Given the description of an element on the screen output the (x, y) to click on. 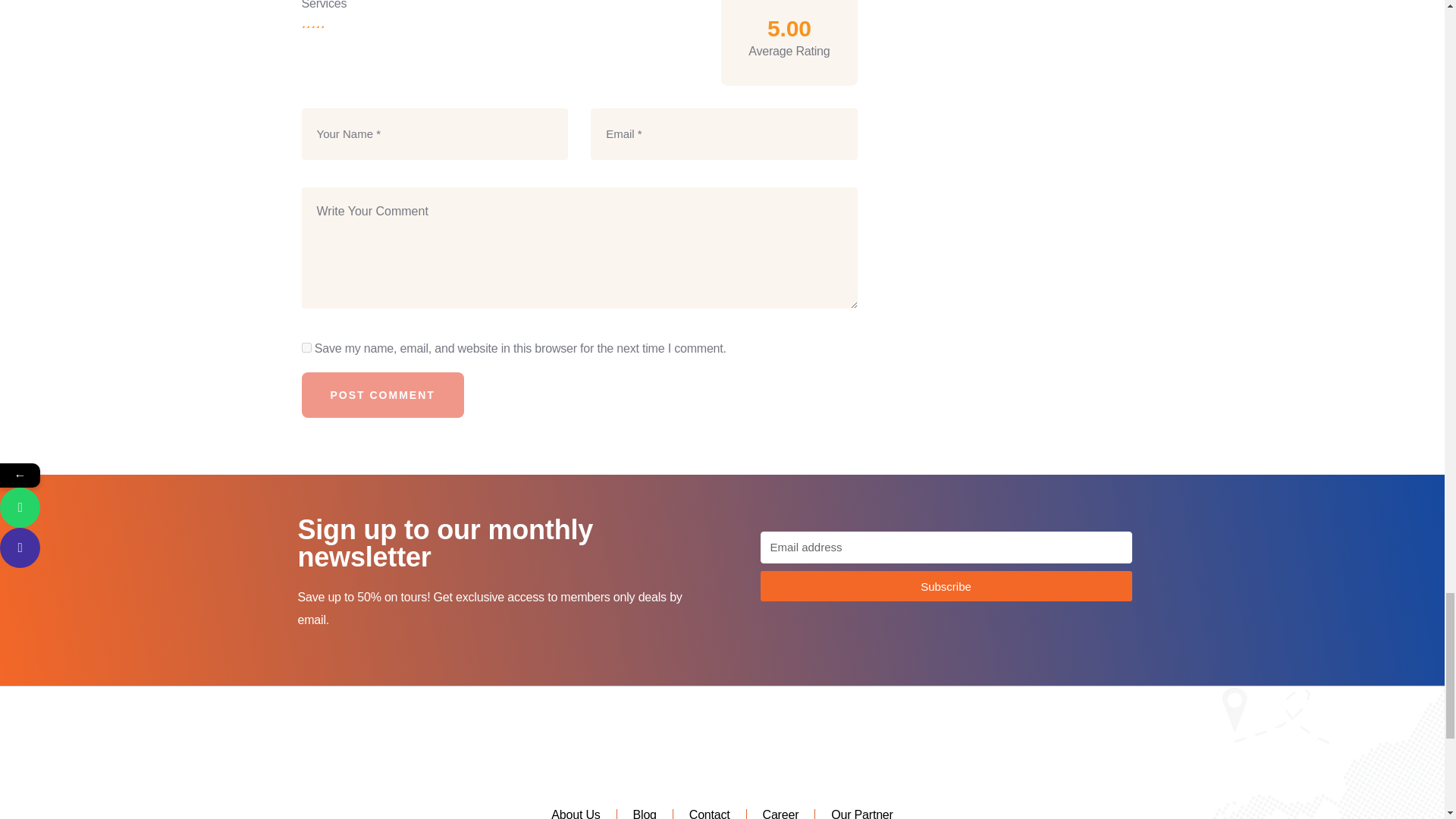
Post Comment (382, 395)
yes (306, 347)
